Given the description of an element on the screen output the (x, y) to click on. 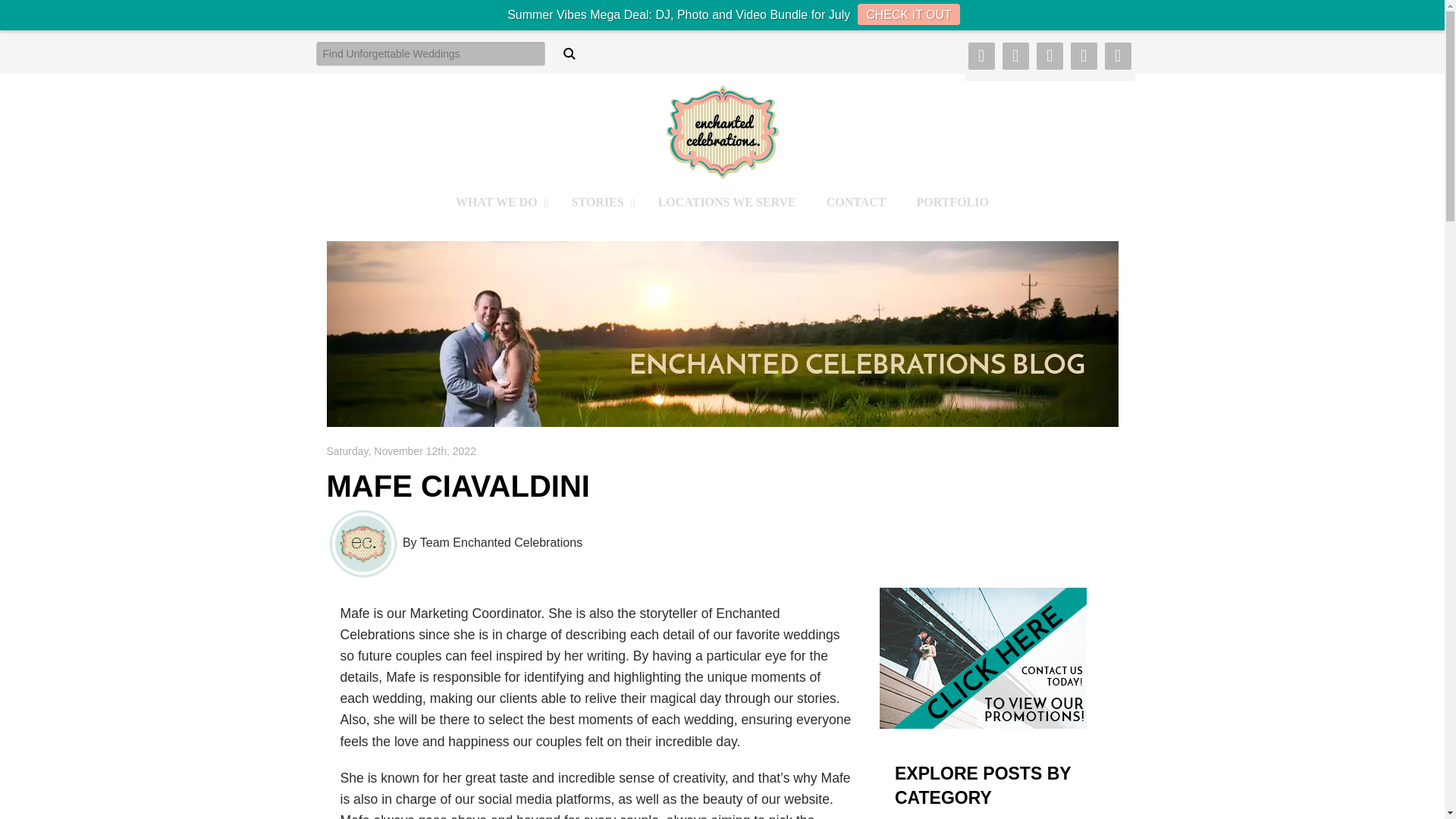
Enchanted Celebrations (721, 201)
